Given the description of an element on the screen output the (x, y) to click on. 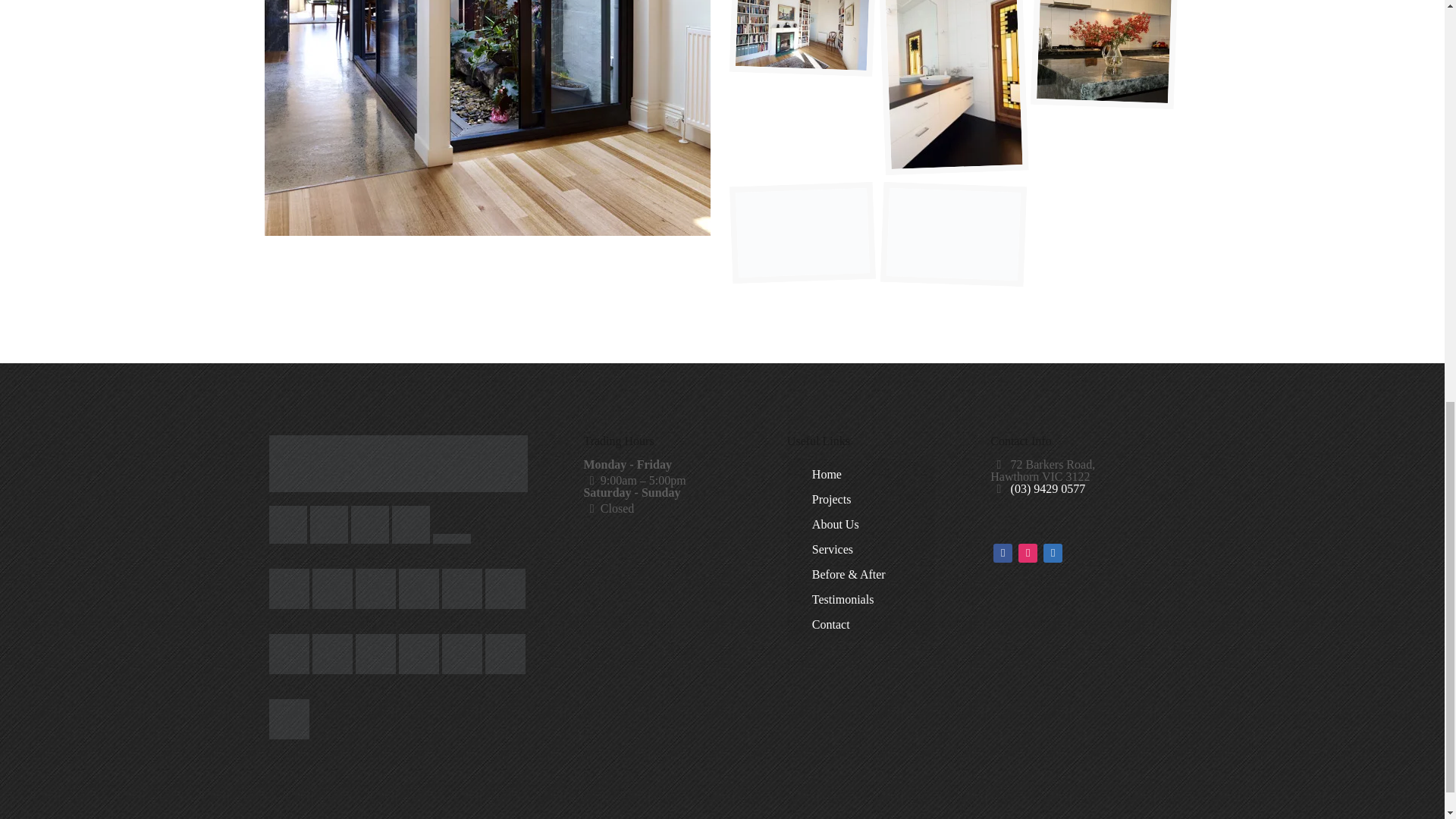
Default Label (1052, 551)
Default Label (1001, 551)
Home (868, 474)
About Us (868, 524)
Services (868, 549)
Instagram (1026, 551)
Projects (868, 499)
